Given the description of an element on the screen output the (x, y) to click on. 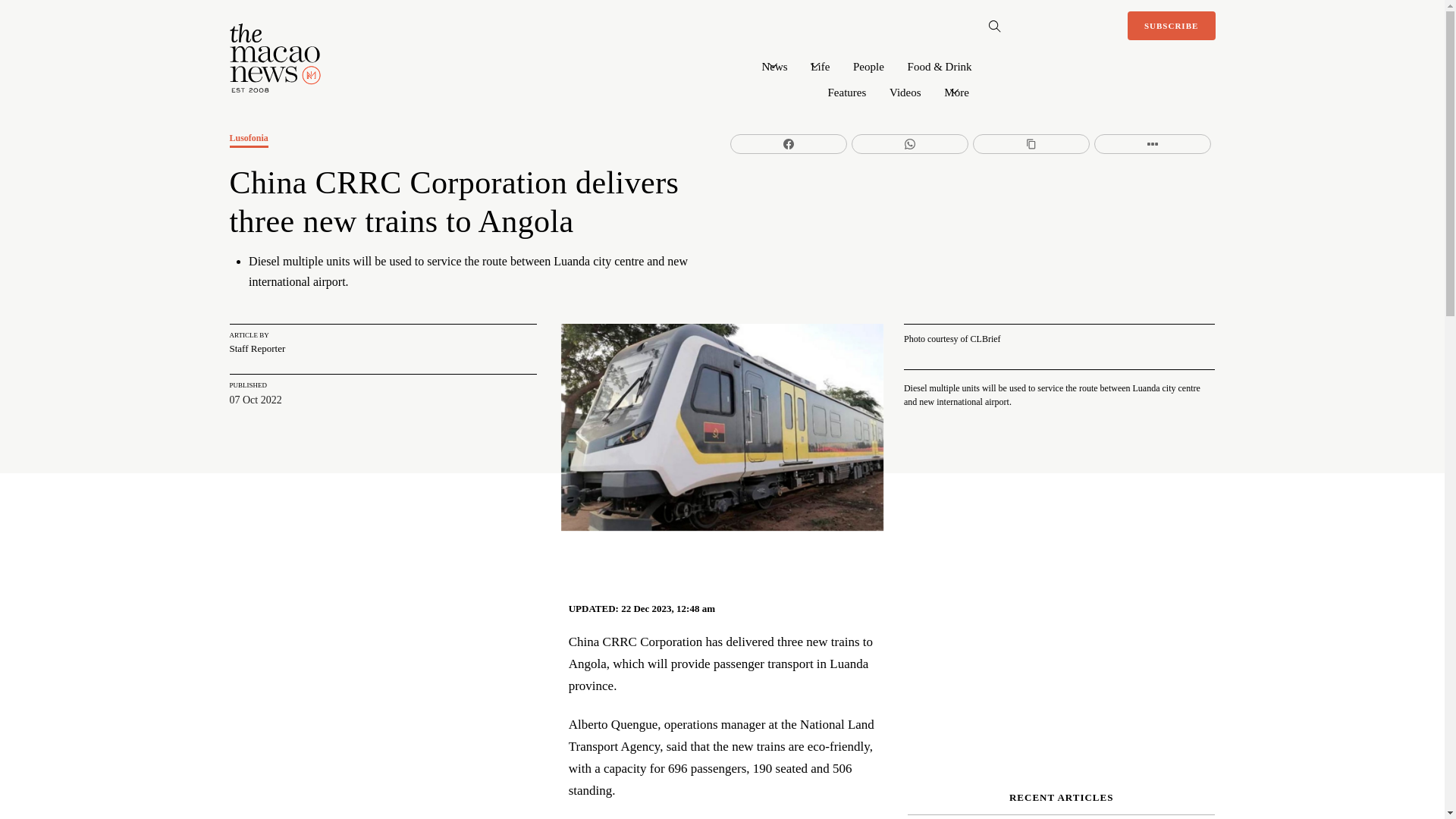
Share on Facebook (788, 143)
Share on More Button (1152, 143)
Share on Copy Link (1030, 143)
China CRRC Corporation new trains Angola (721, 426)
Share on WhatsApp (909, 143)
